Given the description of an element on the screen output the (x, y) to click on. 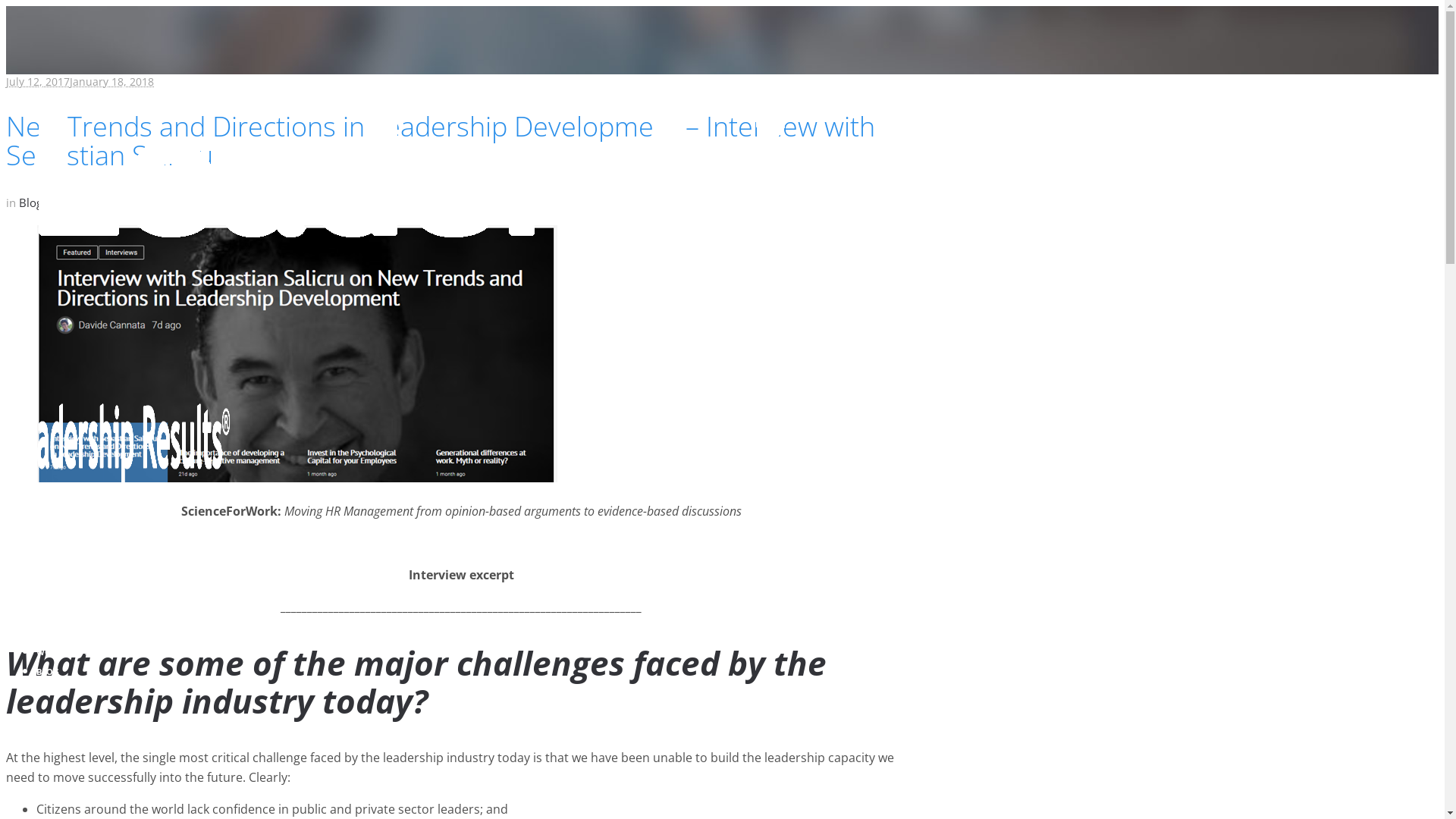
Blog Element type: text (30, 202)
COACHING Element type: text (58, 612)
HOME Element type: text (48, 552)
ABOUT Element type: text (50, 690)
LEADERSHIP DEVELOPMENT Element type: text (92, 631)
PUBLICATIONS Element type: text (66, 572)
SPEAKING Element type: text (57, 592)
WORKSHOPS Element type: text (62, 651)
BLOG Element type: text (47, 671)
